Given the description of an element on the screen output the (x, y) to click on. 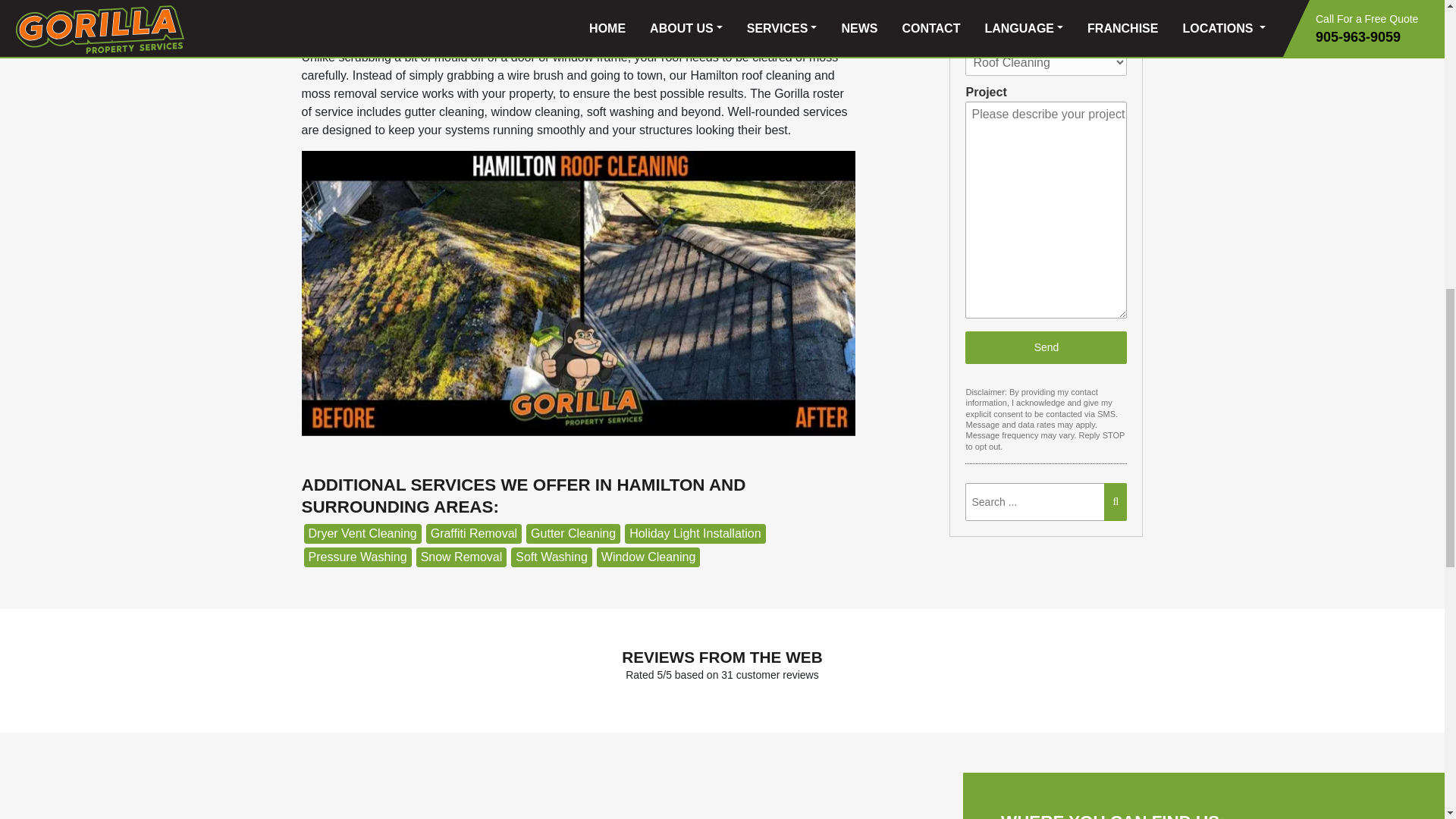
Send (1045, 347)
Hamilton Window Cleaning (648, 557)
Hamilton Soft Washing (551, 557)
Search for: (1044, 501)
Hamilton Snow Removal (461, 557)
Hamilton Pressure Washing (356, 557)
Hamilton Gutter Cleaning (572, 533)
Hamilton Holiday Light Installation (694, 533)
Gorilla Property Services Hamilton (481, 794)
Hamilton Graffiti Removal (473, 533)
Hamilton Dryer Vent Cleaning (361, 533)
